Given the description of an element on the screen output the (x, y) to click on. 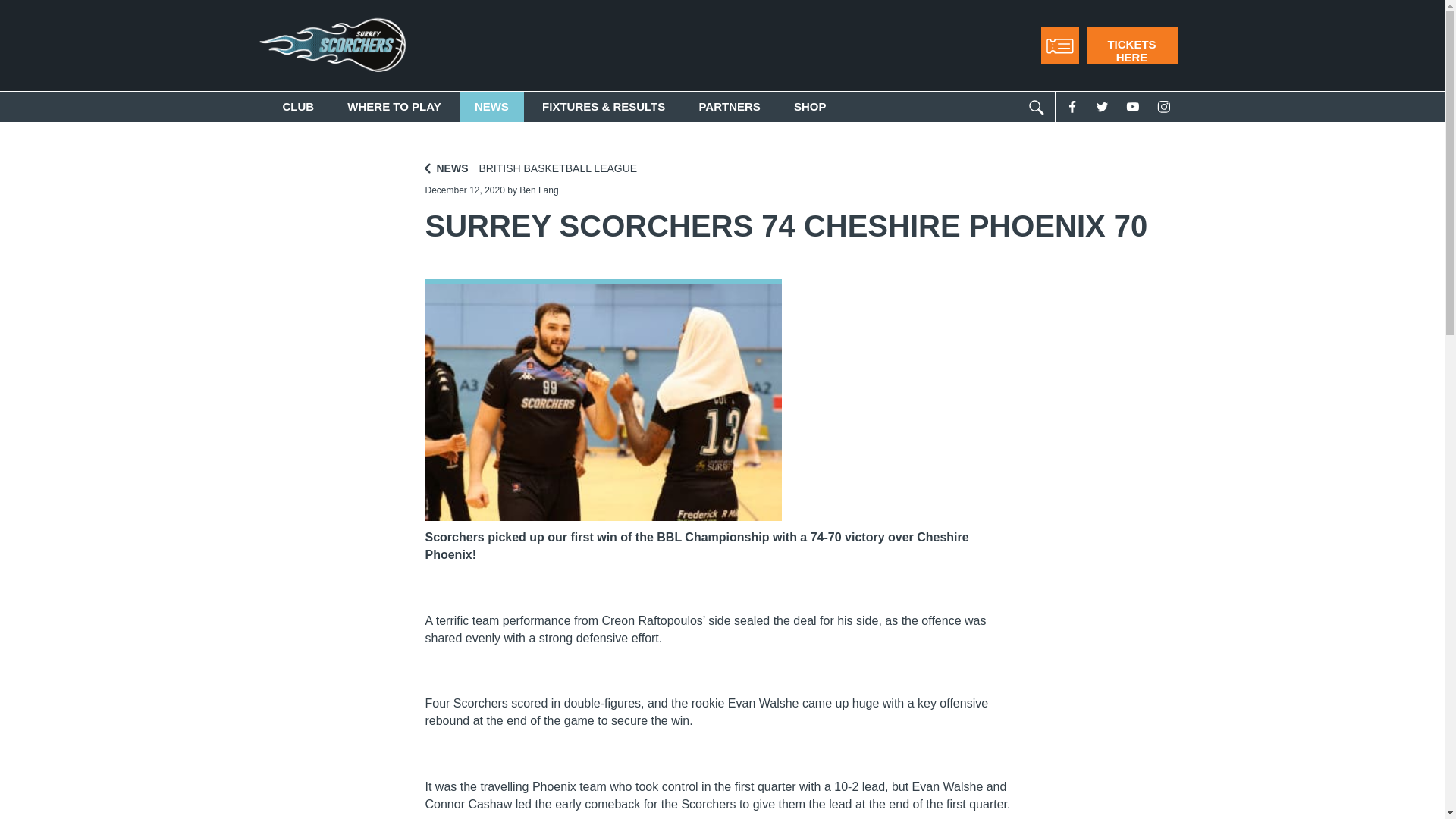
PARTNERS (728, 106)
SHOP (809, 106)
NEWS (492, 106)
WHERE TO PLAY (393, 106)
CLUB (297, 106)
